Given the description of an element on the screen output the (x, y) to click on. 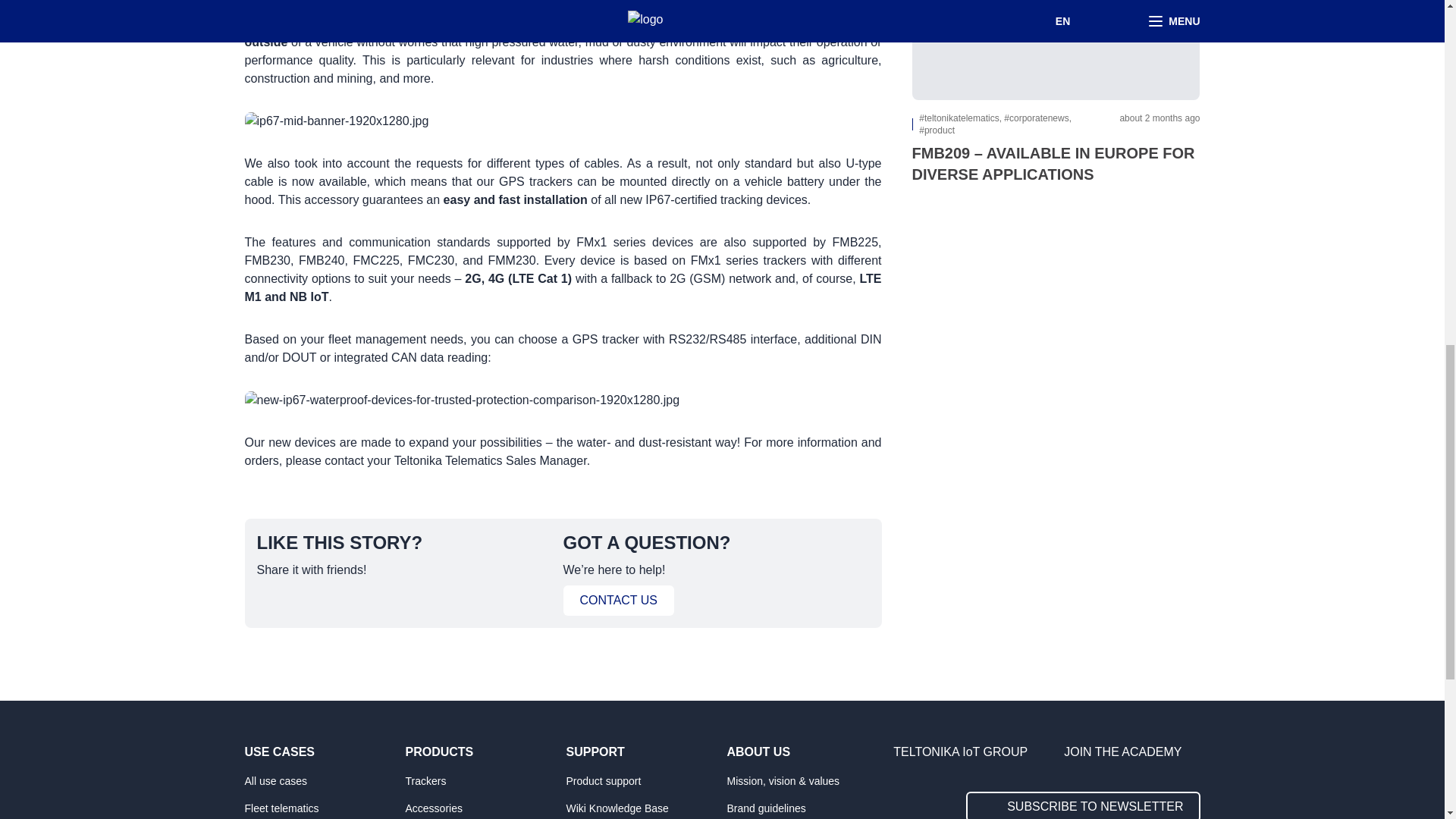
Fleet telematics (320, 806)
All use cases (320, 780)
CONTACT US (618, 600)
Trackers (480, 780)
